Given the description of an element on the screen output the (x, y) to click on. 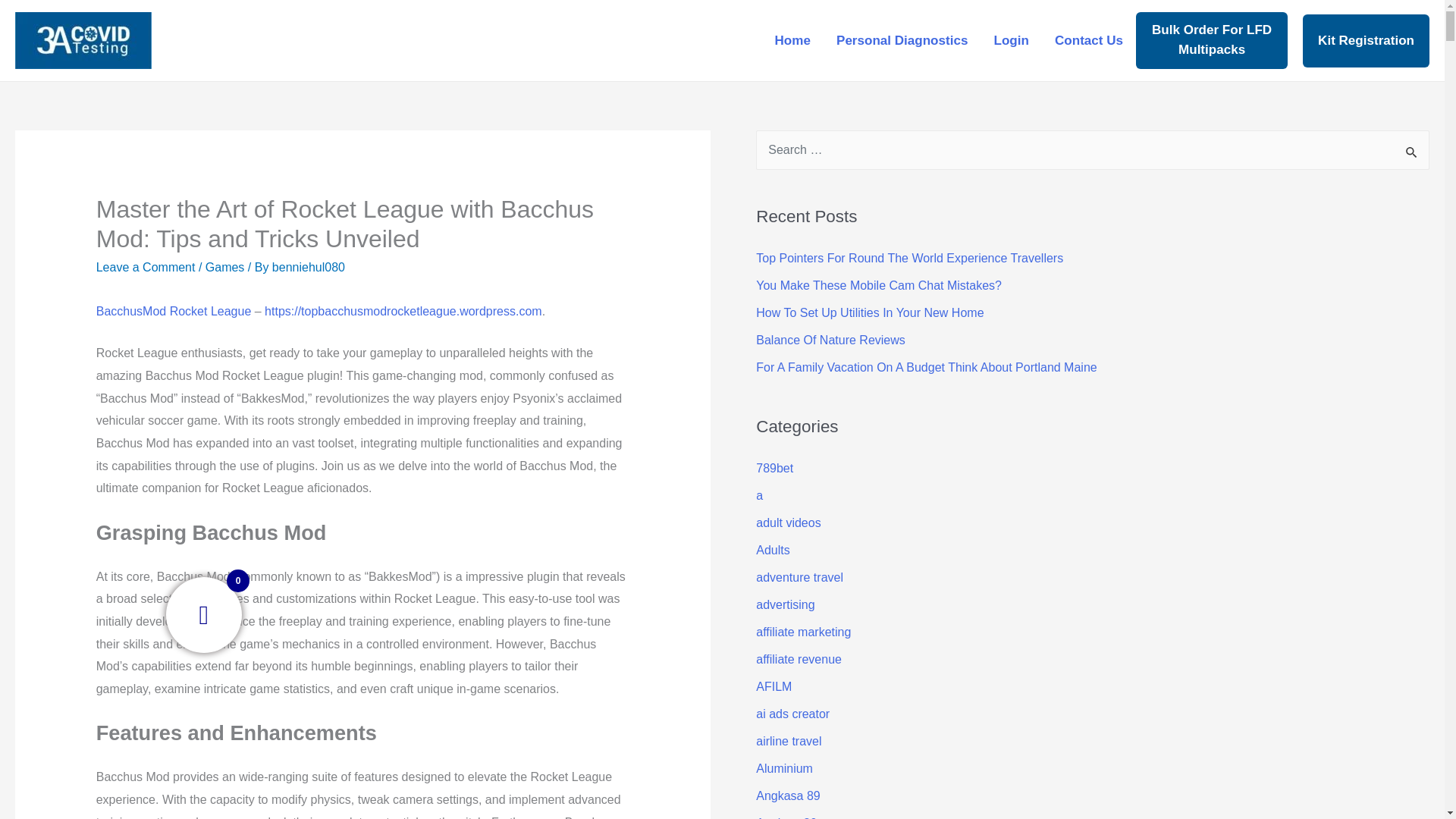
Contact Us (1088, 39)
adventure travel (799, 576)
Top Pointers For Round The World Experience Travellers (908, 257)
benniehul080 (308, 267)
Adults (772, 549)
advertising (784, 604)
For A Family Vacation On A Budget Think About Portland Maine (925, 367)
Home (792, 39)
BacchusMod Rocket League (173, 310)
adult videos (788, 522)
Kit Registration (1366, 39)
Bulk Order For LFD Multipacks (1211, 39)
789bet (774, 468)
You Make These Mobile Cam Chat Mistakes? (878, 285)
Games (224, 267)
